Given the description of an element on the screen output the (x, y) to click on. 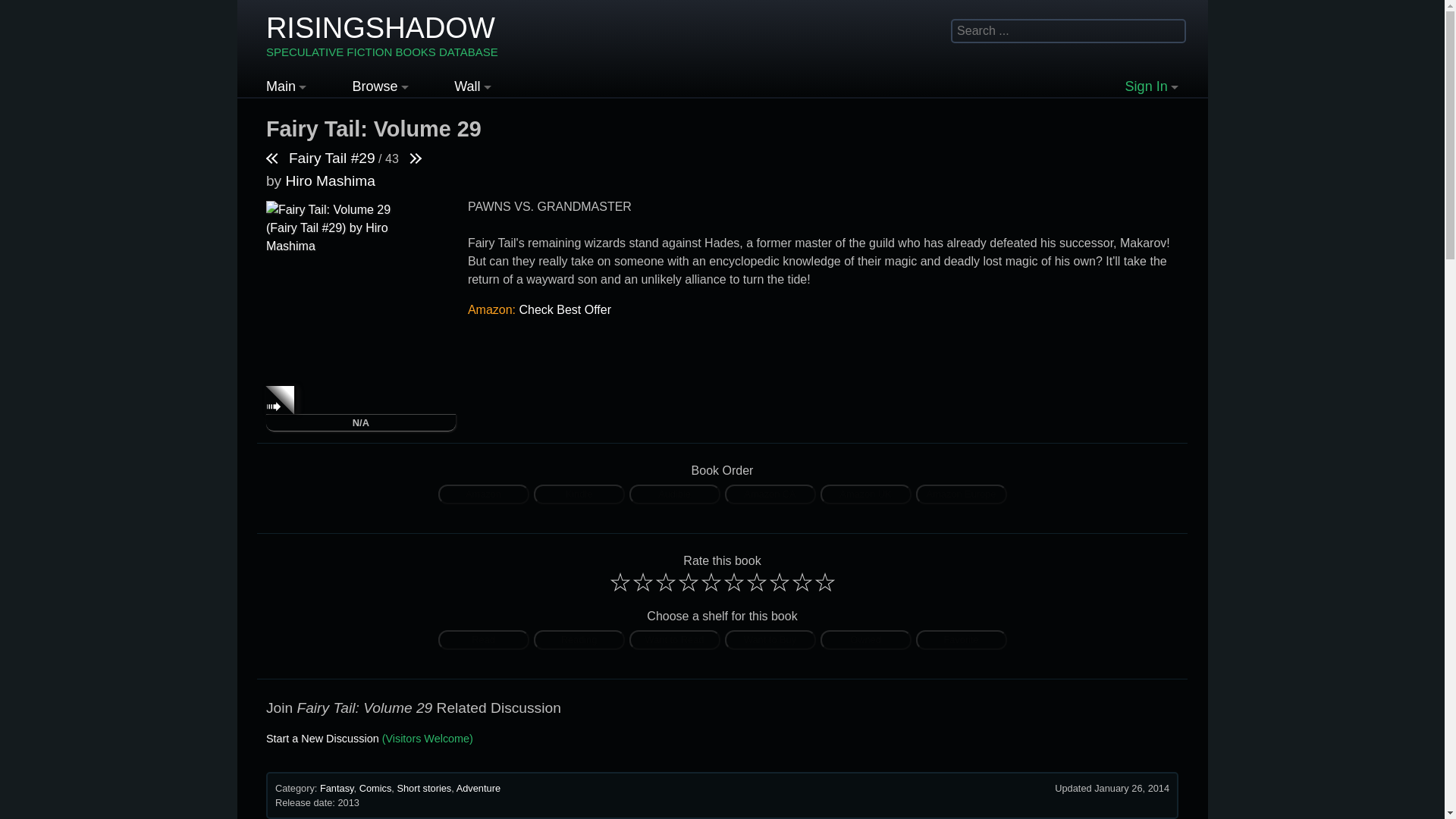
Amazon (483, 494)
Amazon CA (769, 492)
Hiro Mashima (329, 180)
Want to Read (674, 639)
Amazon (483, 492)
Want to Read (674, 639)
Audible (674, 492)
Read (483, 639)
Kindle (578, 492)
Audible (674, 494)
Amazon CA (770, 494)
Read (483, 639)
Want to Buy (770, 639)
Want to Buy (770, 639)
Kindle (579, 494)
